Given the description of an element on the screen output the (x, y) to click on. 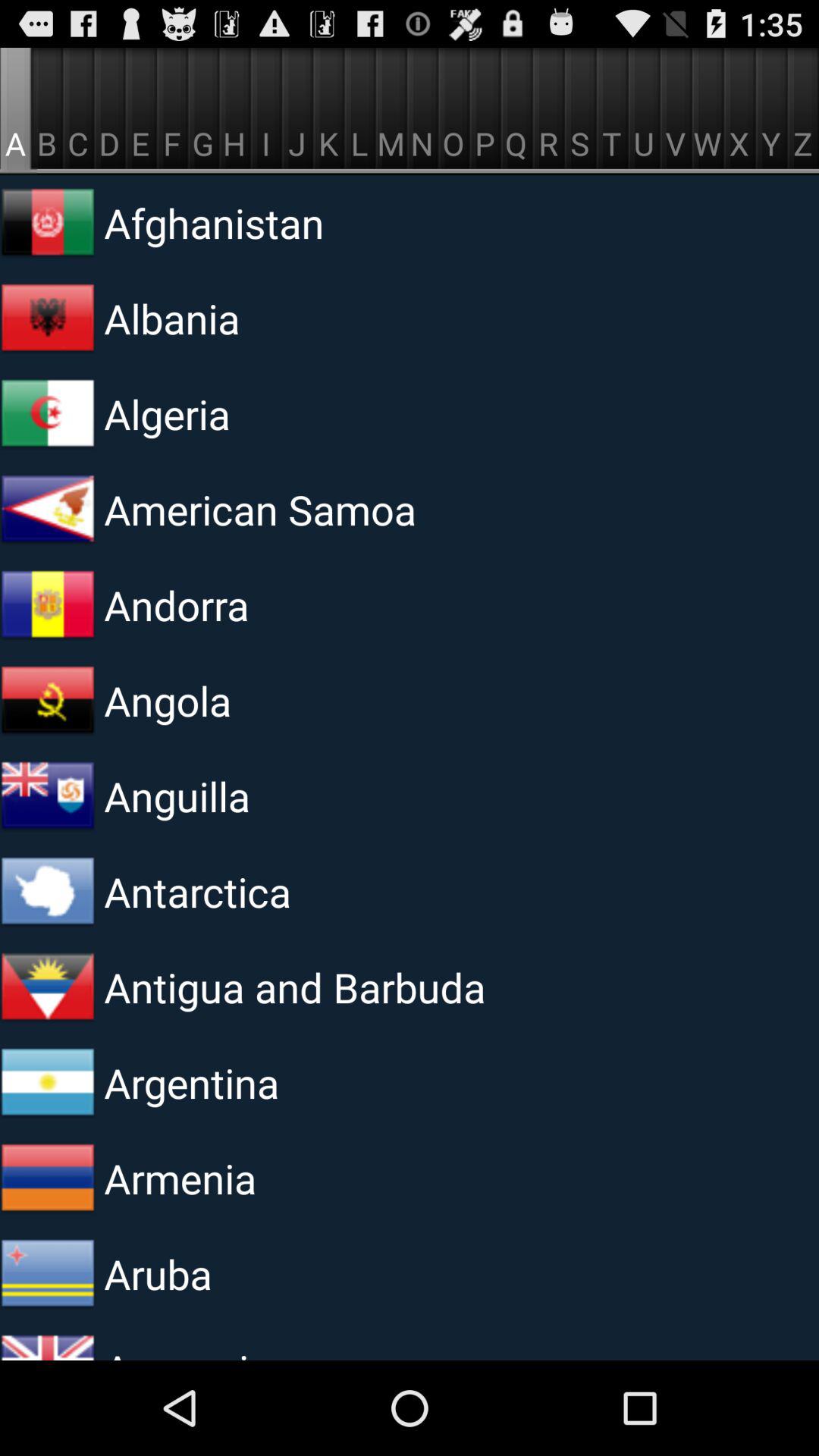
select app below the c item (290, 222)
